Given the description of an element on the screen output the (x, y) to click on. 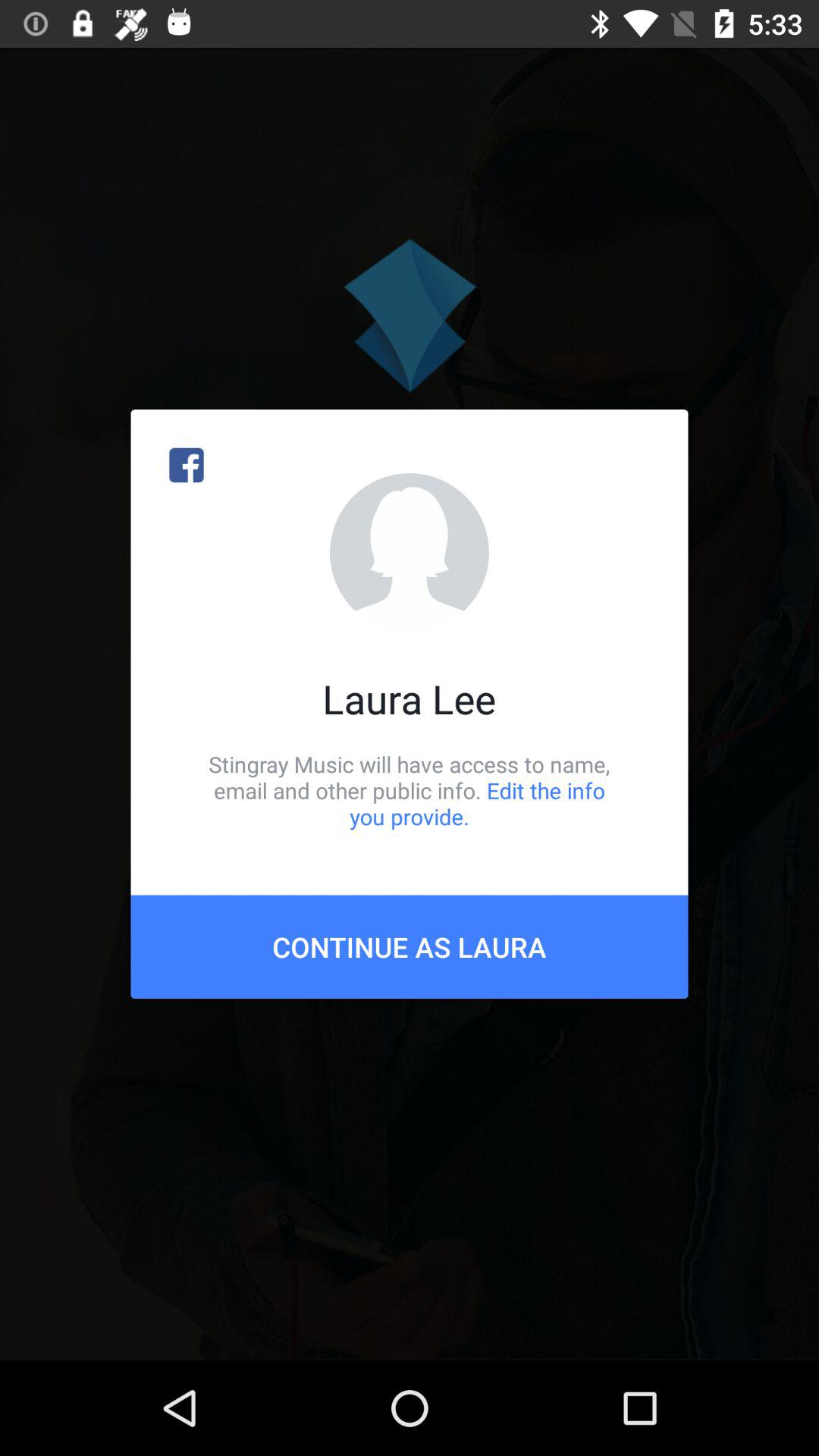
press icon below laura lee item (409, 790)
